Given the description of an element on the screen output the (x, y) to click on. 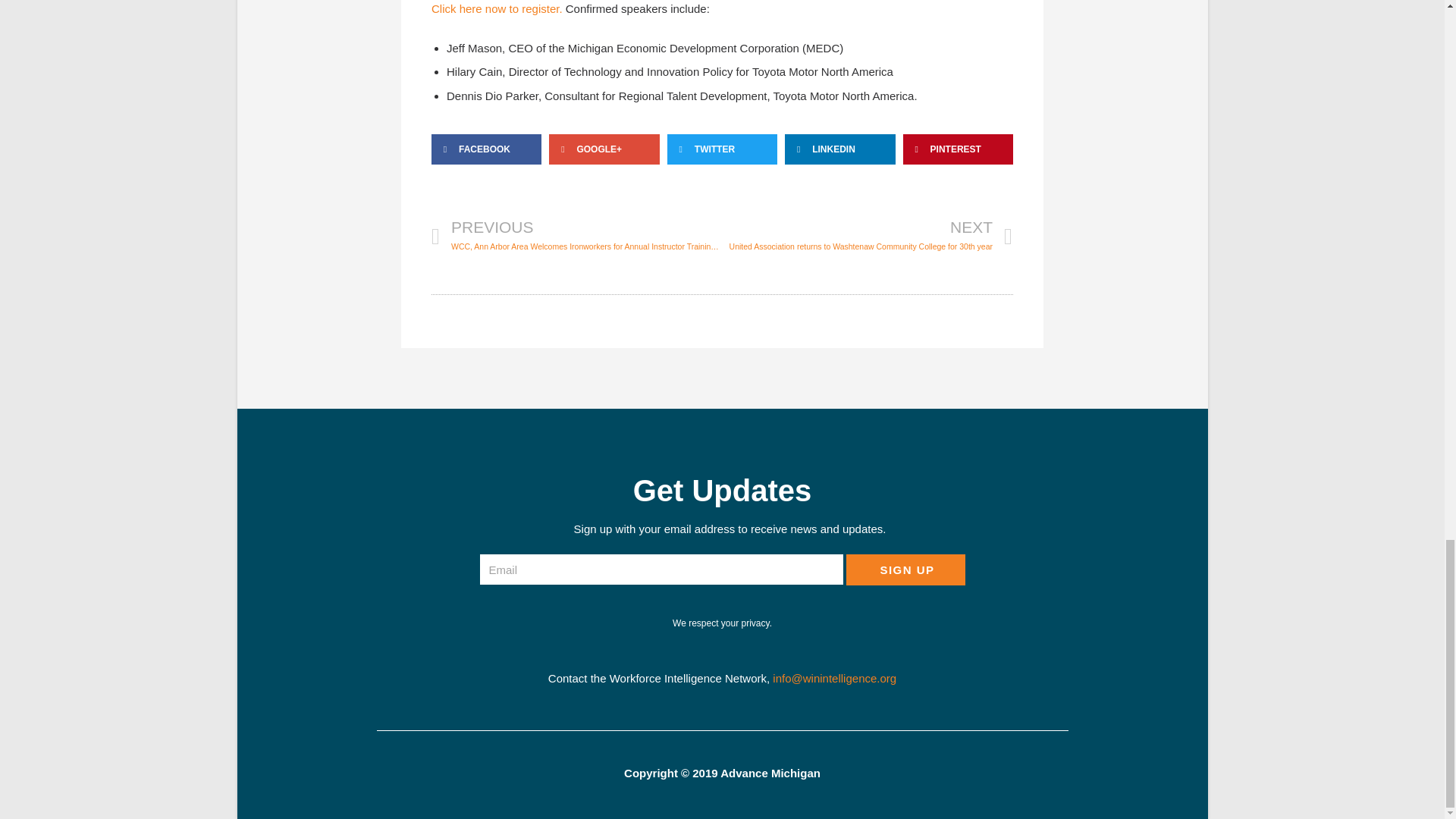
SIGN UP (905, 569)
Click here now to register. (496, 8)
